Given the description of an element on the screen output the (x, y) to click on. 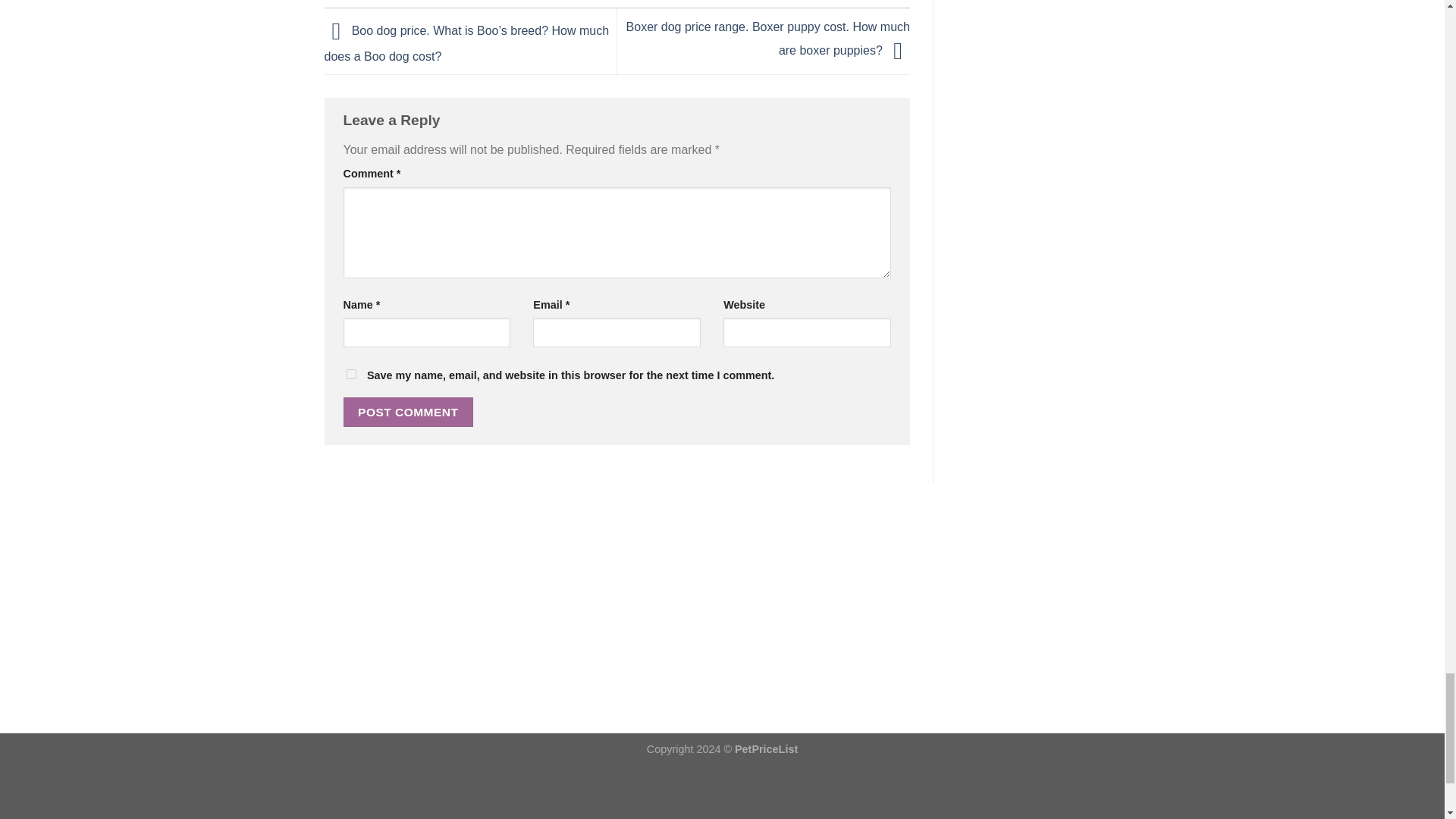
yes (350, 374)
Post Comment (407, 411)
